Given the description of an element on the screen output the (x, y) to click on. 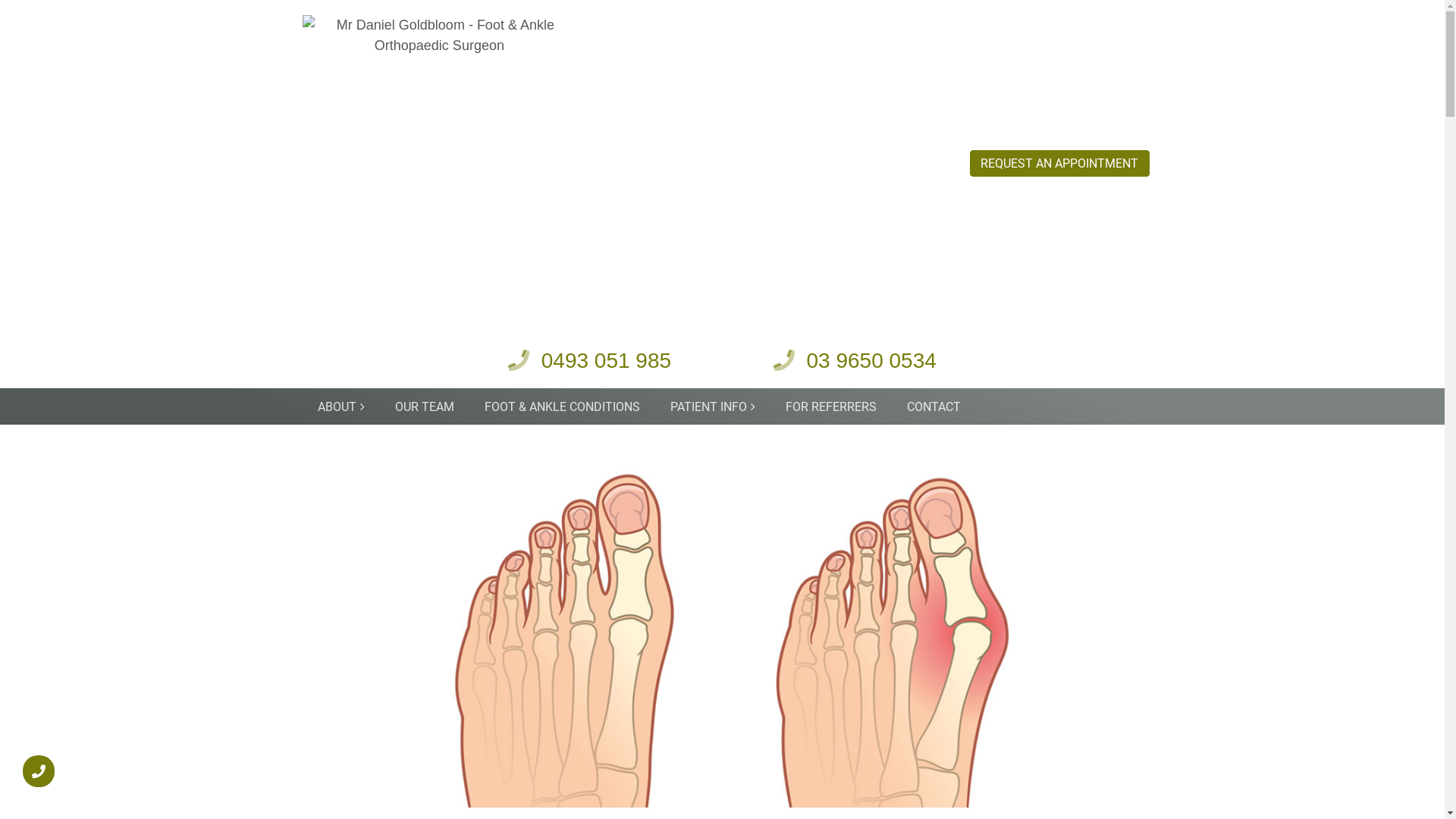
ABOUT Element type: text (340, 406)
OUR TEAM Element type: text (424, 407)
FOR REFERRERS Element type: text (830, 407)
  0493 051 985 Element type: text (589, 360)
REQUEST AN APPOINTMENT Element type: text (1059, 163)
FOOT & ANKLE CONDITIONS Element type: text (562, 407)
PATIENT INFO Element type: text (712, 406)
Mr Daniel Goldbloom Element type: hover (438, 166)
  03 9650 0534 Element type: text (854, 360)
CONTACT Element type: text (933, 407)
